Given the description of an element on the screen output the (x, y) to click on. 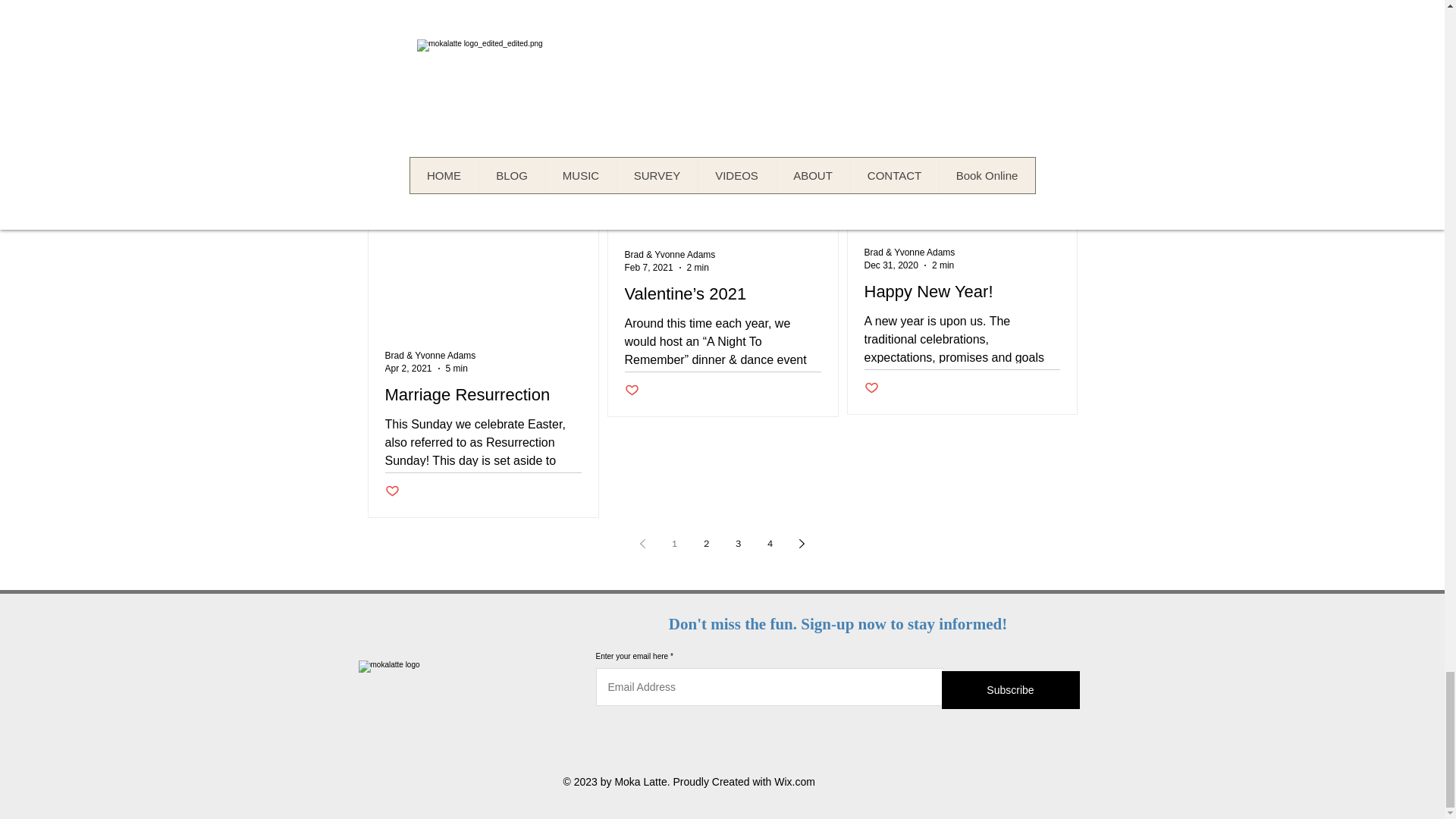
Post not marked as liked (391, 491)
Post not marked as liked (391, 162)
Post not marked as liked (631, 61)
May 1, 2022 (410, 39)
Happy New Year! (961, 291)
2 min (459, 39)
Sowing Seed (482, 65)
Post not marked as liked (631, 390)
Marriage Resurrection (482, 395)
Post not marked as liked (871, 59)
